Given the description of an element on the screen output the (x, y) to click on. 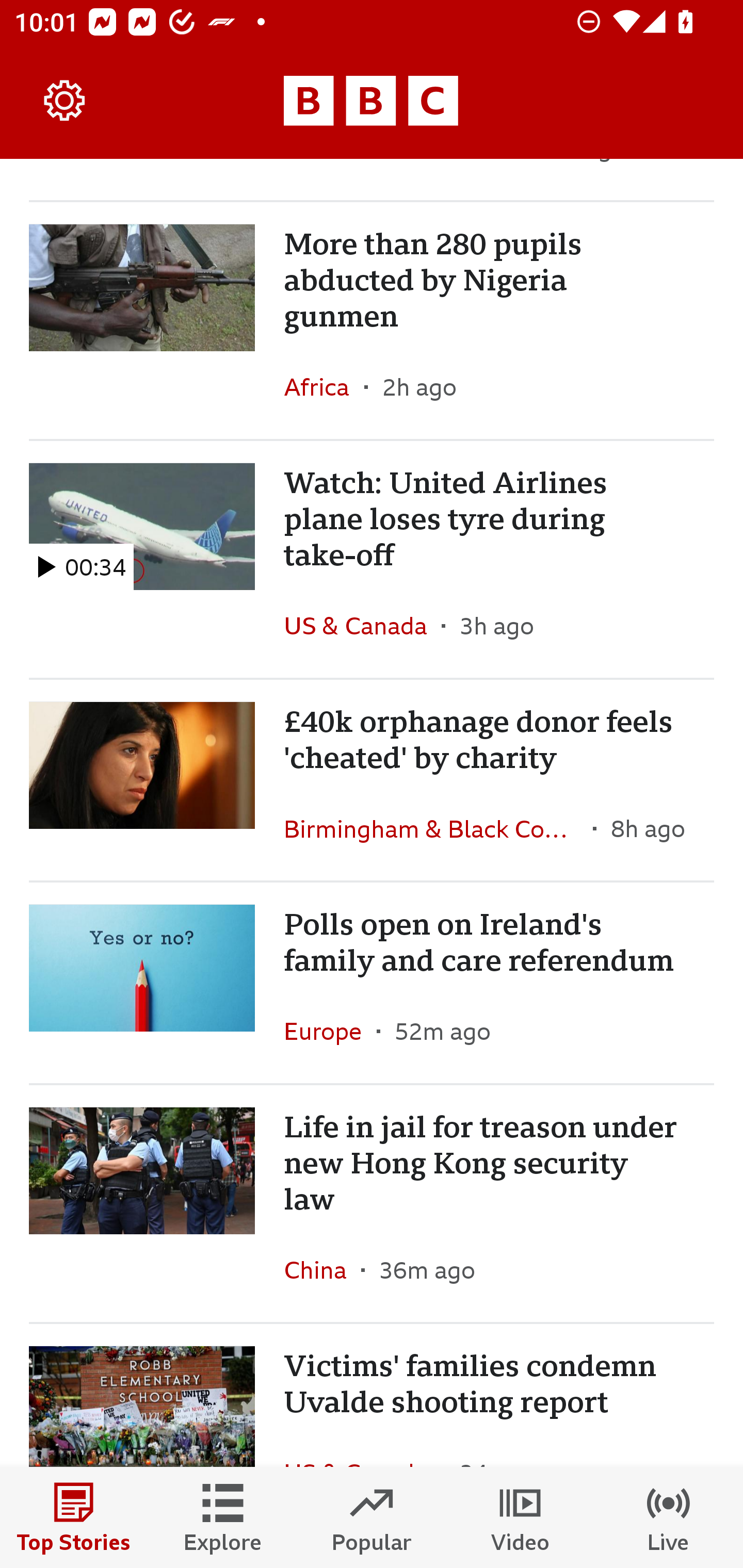
Settings (64, 100)
Africa In the section Africa (323, 386)
US & Canada In the section US & Canada (362, 625)
Europe In the section Europe (329, 1030)
China In the section China (322, 1269)
Explore (222, 1517)
Popular (371, 1517)
Video (519, 1517)
Live (668, 1517)
